Given the description of an element on the screen output the (x, y) to click on. 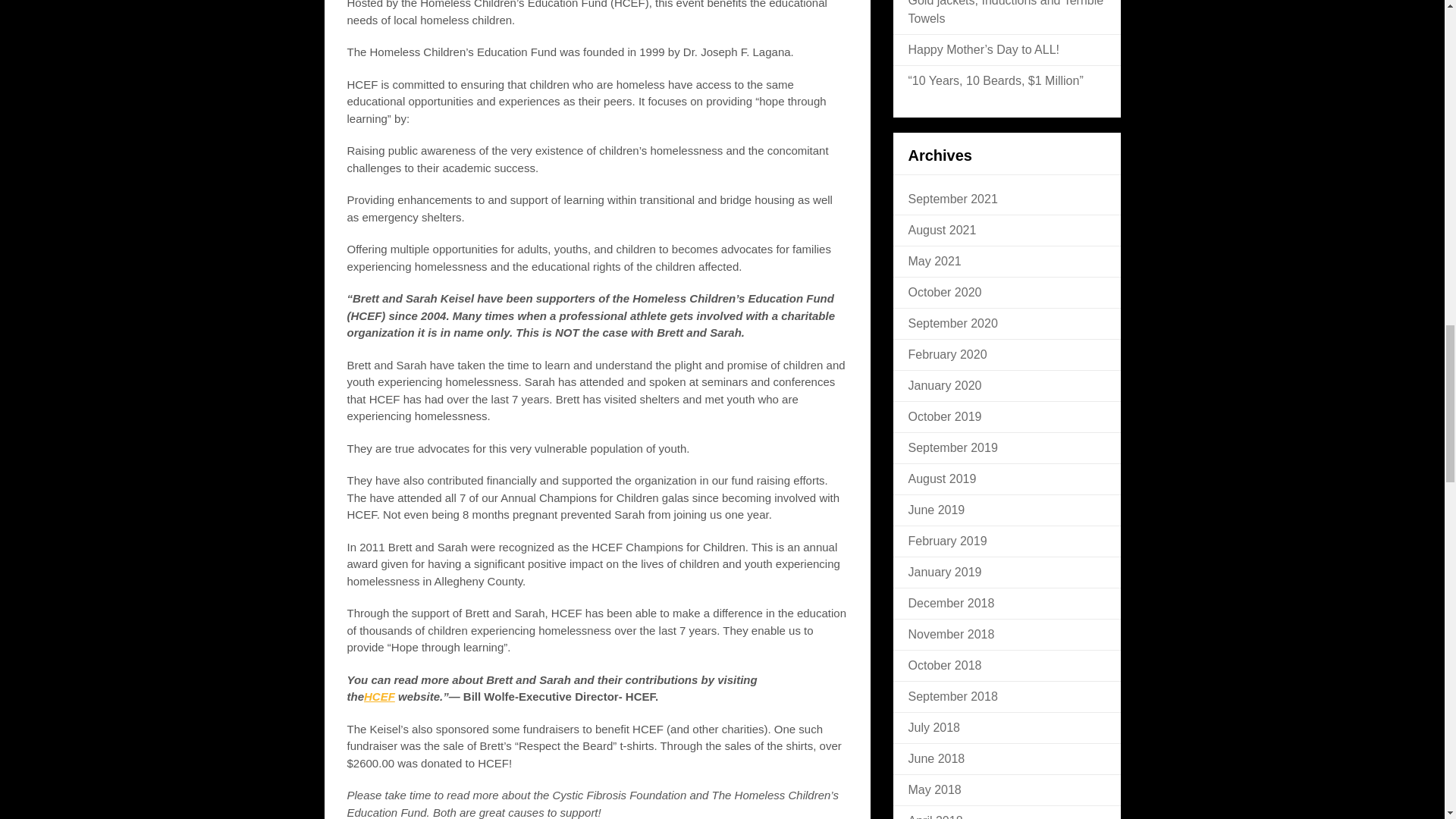
HCEF (379, 696)
September 2021 (952, 198)
May 2021 (934, 260)
August 2021 (942, 229)
Gold jackets, Inductions and Terrible Towels (1005, 12)
